Given the description of an element on the screen output the (x, y) to click on. 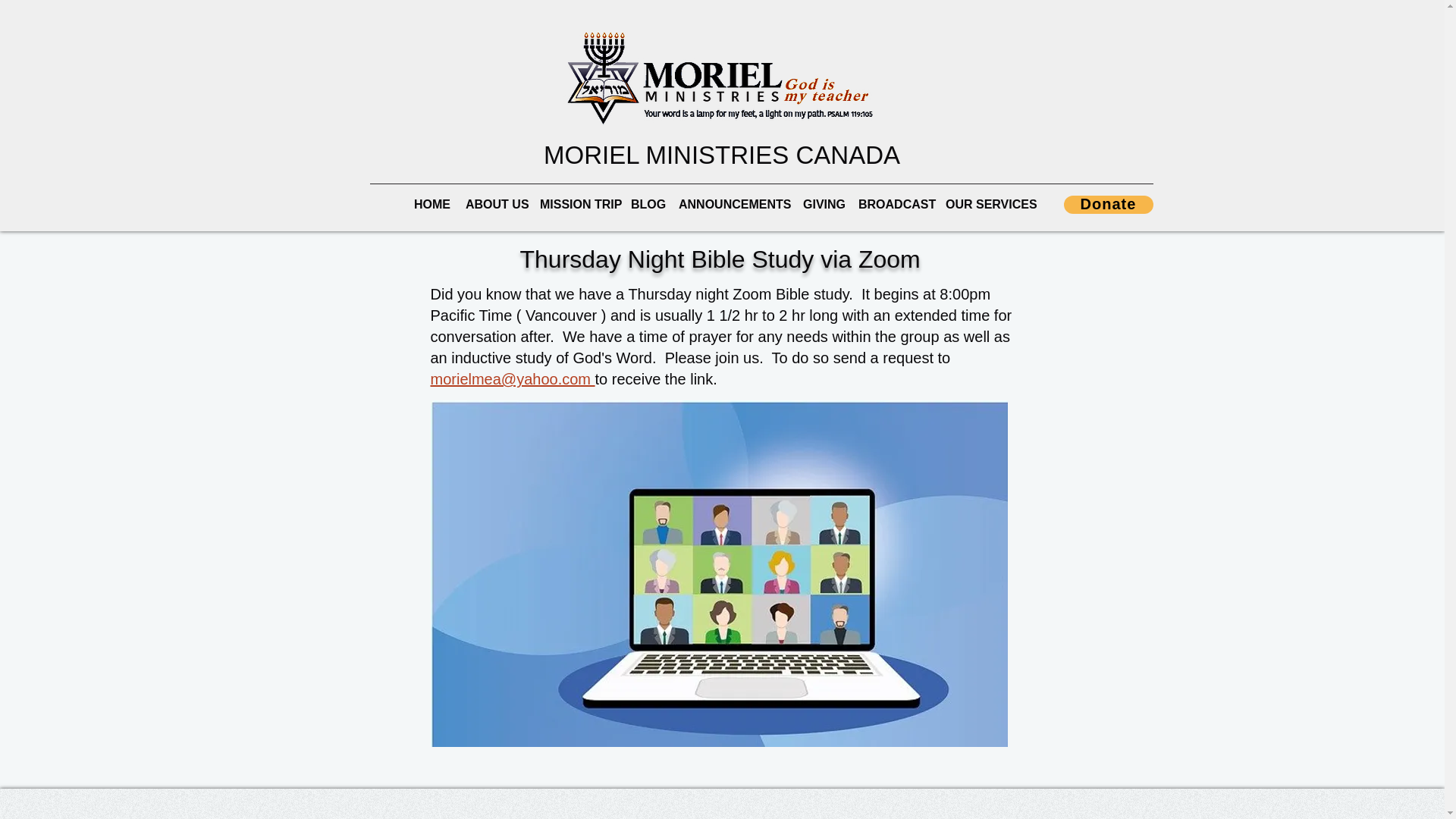
ANNOUNCEMENTS (732, 204)
ABOUT US (495, 204)
GIVING (822, 204)
BLOG (647, 204)
MORIEL MINISTRIES CANADA (721, 154)
Donate (1107, 204)
OUR SERVICES (985, 204)
HOME (432, 204)
BROADCAST (893, 204)
MISSION TRIP (577, 204)
